Given the description of an element on the screen output the (x, y) to click on. 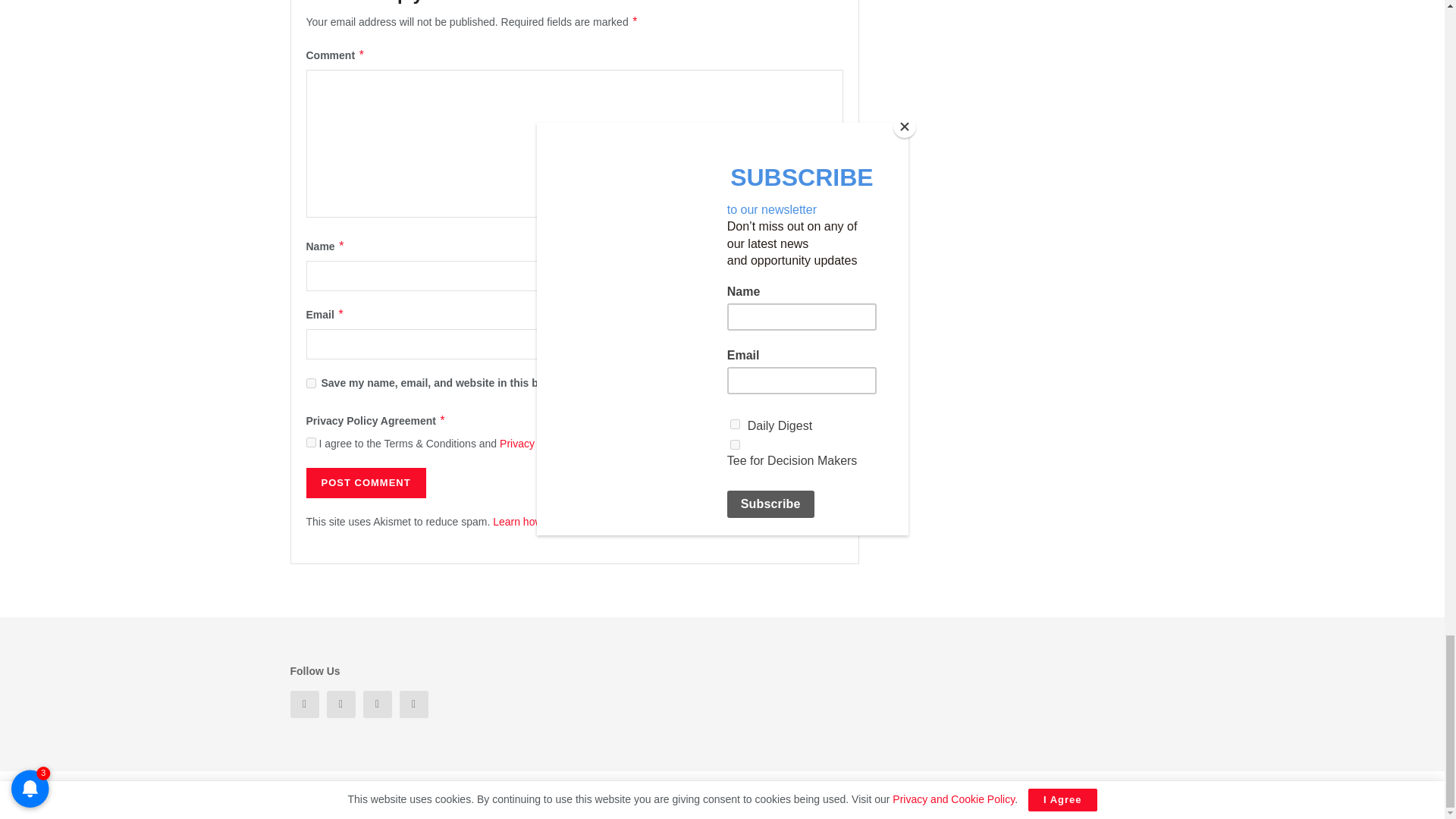
on (310, 442)
yes (310, 383)
Post Comment (365, 482)
